Given the description of an element on the screen output the (x, y) to click on. 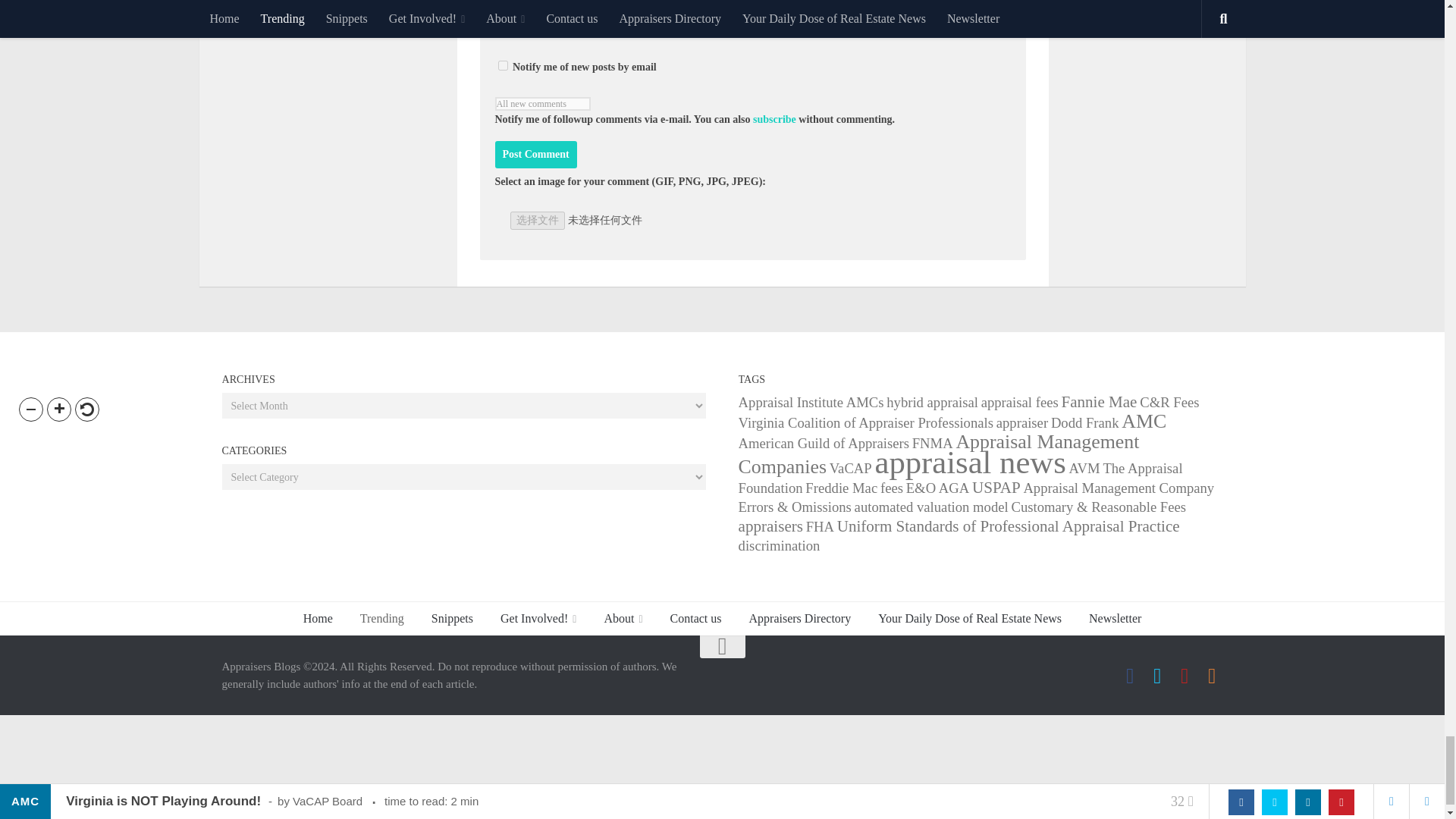
yes (501, 23)
1 (501, 65)
Post Comment (535, 154)
